Given the description of an element on the screen output the (x, y) to click on. 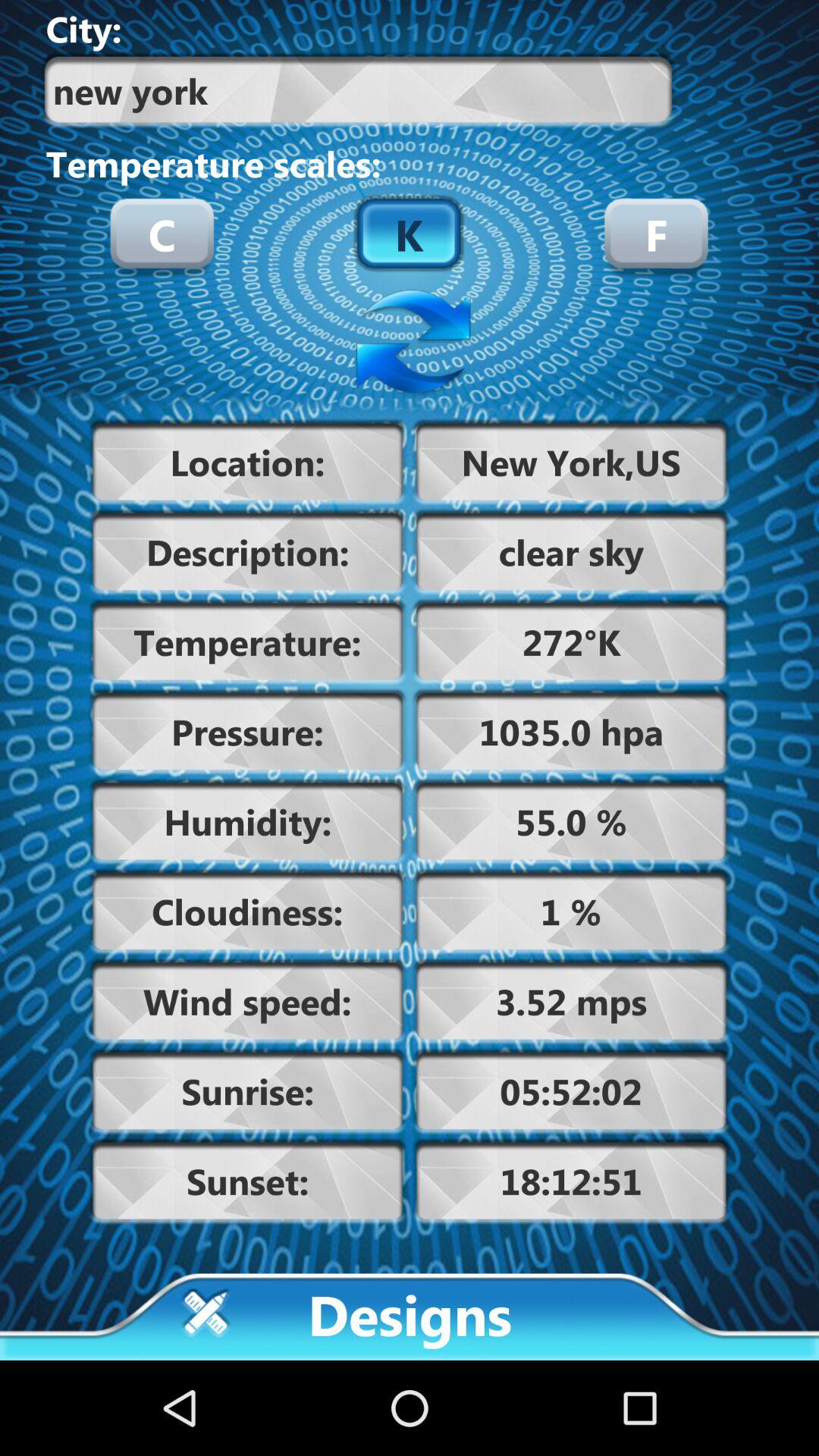
select the k button (408, 233)
